Given the description of an element on the screen output the (x, y) to click on. 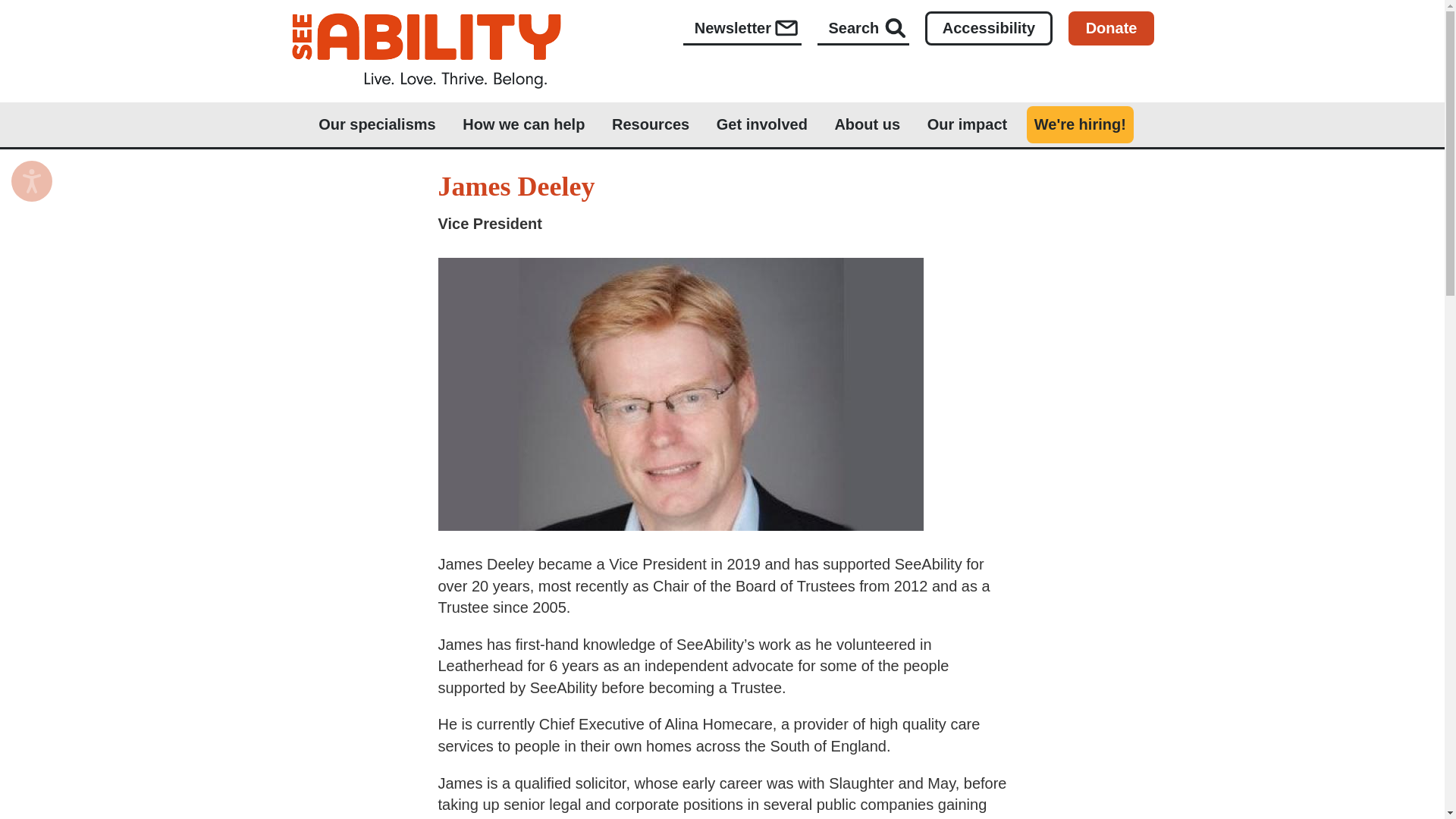
Accessibility (988, 28)
Our specialisms (376, 124)
Search (863, 29)
Home (425, 49)
Resources (649, 124)
We're hiring! (1080, 124)
Listen with the ReachDeck Toolbar (31, 180)
Get involved (761, 124)
Newsletter (742, 29)
Our impact (967, 124)
How we can help (523, 124)
Donate (1111, 28)
About us (866, 124)
